Given the description of an element on the screen output the (x, y) to click on. 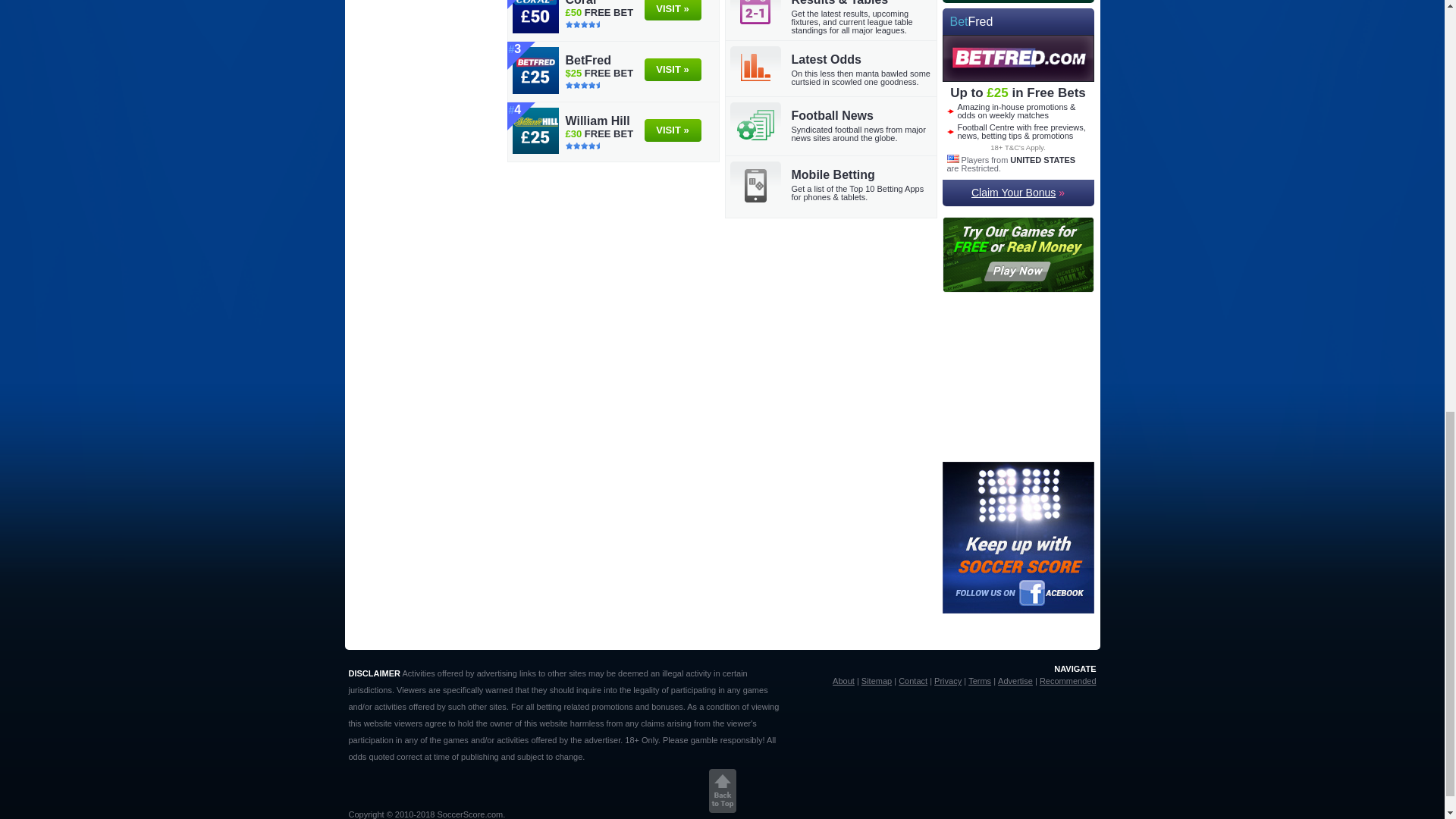
Play FREE or Real Money Casino Games (1017, 287)
